Given the description of an element on the screen output the (x, y) to click on. 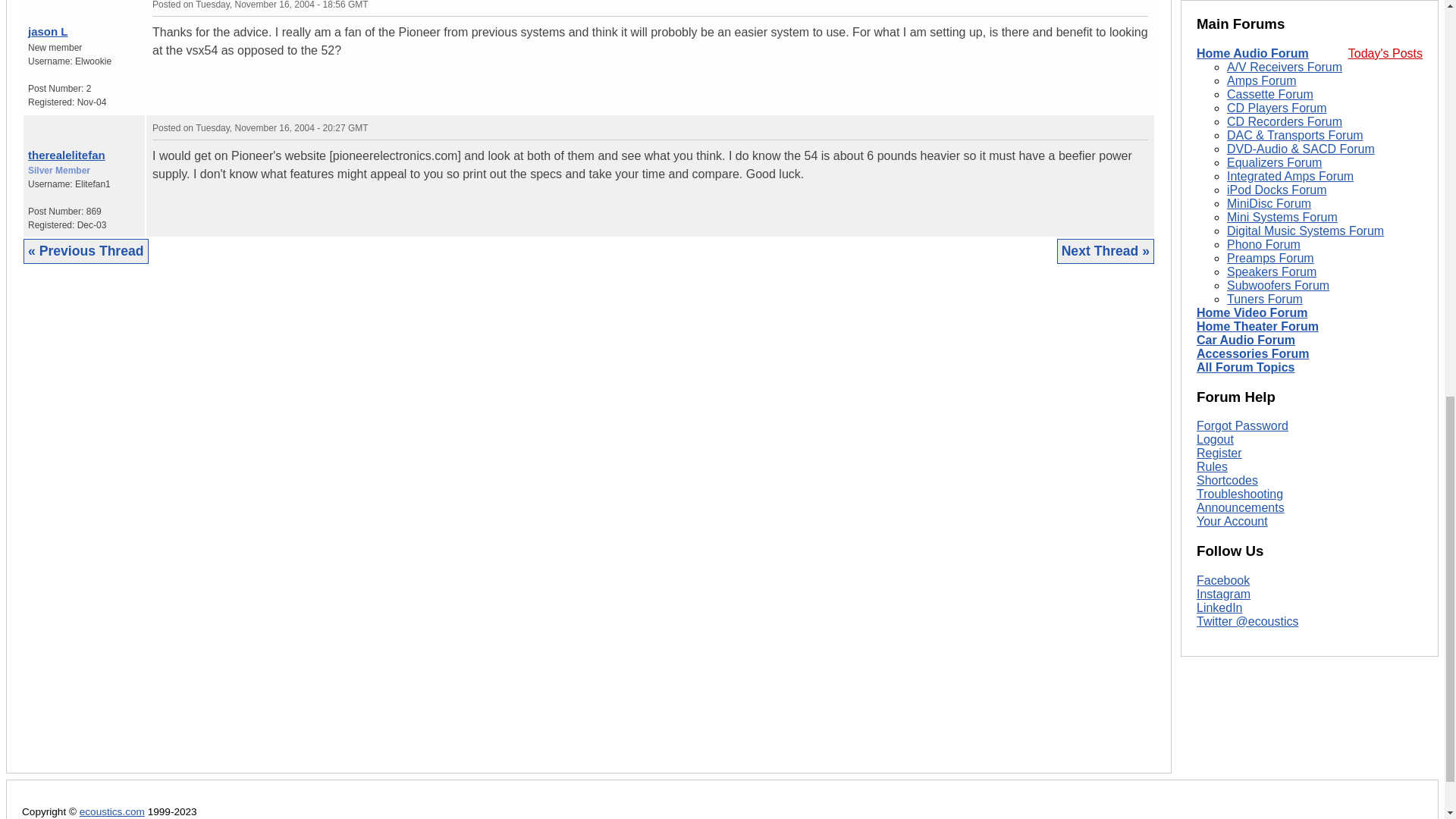
top of page (32, 2)
